Given the description of an element on the screen output the (x, y) to click on. 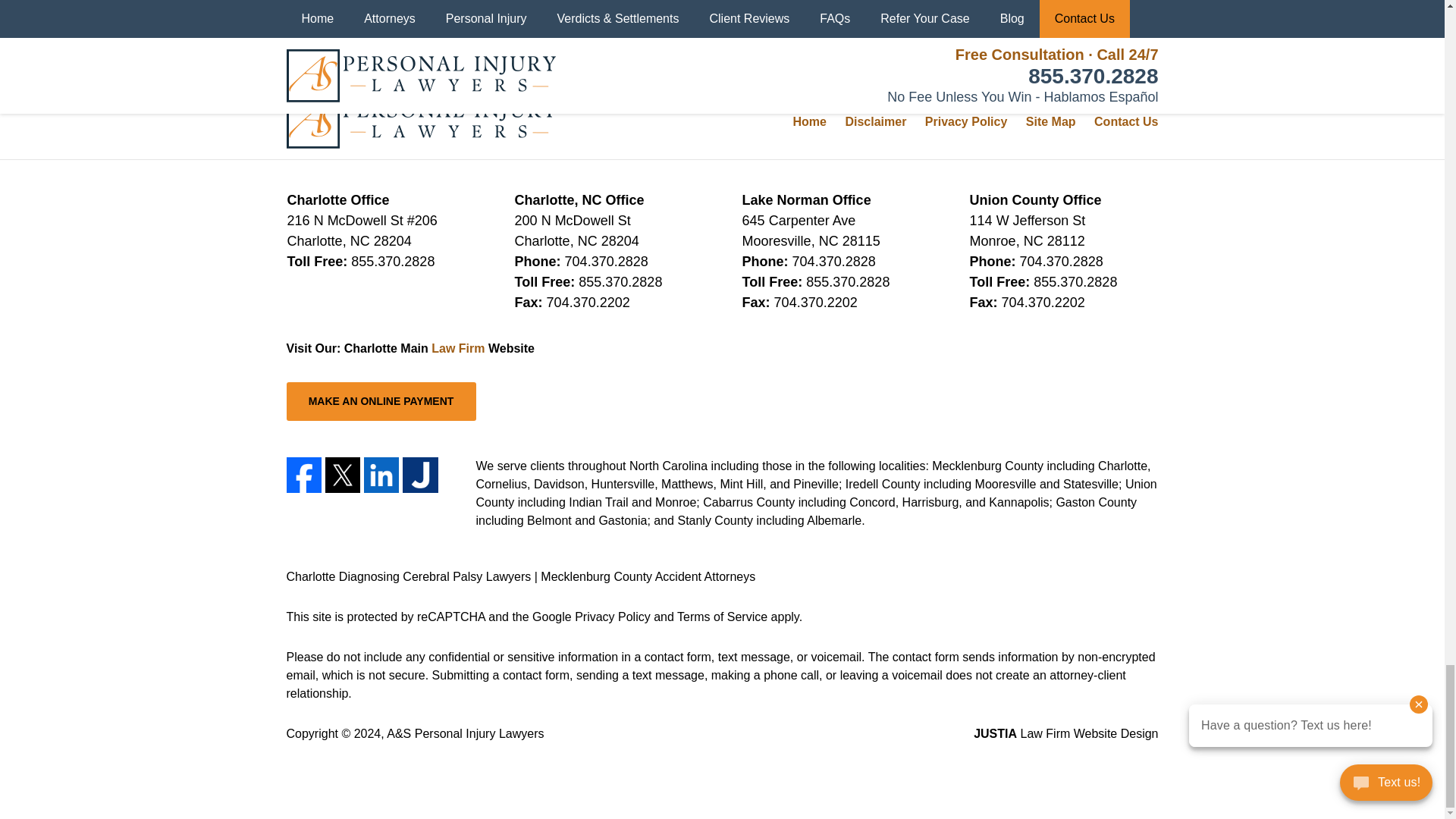
Justia (420, 474)
LinkedIn (381, 474)
Twitter (341, 474)
Facebook (303, 474)
